Given the description of an element on the screen output the (x, y) to click on. 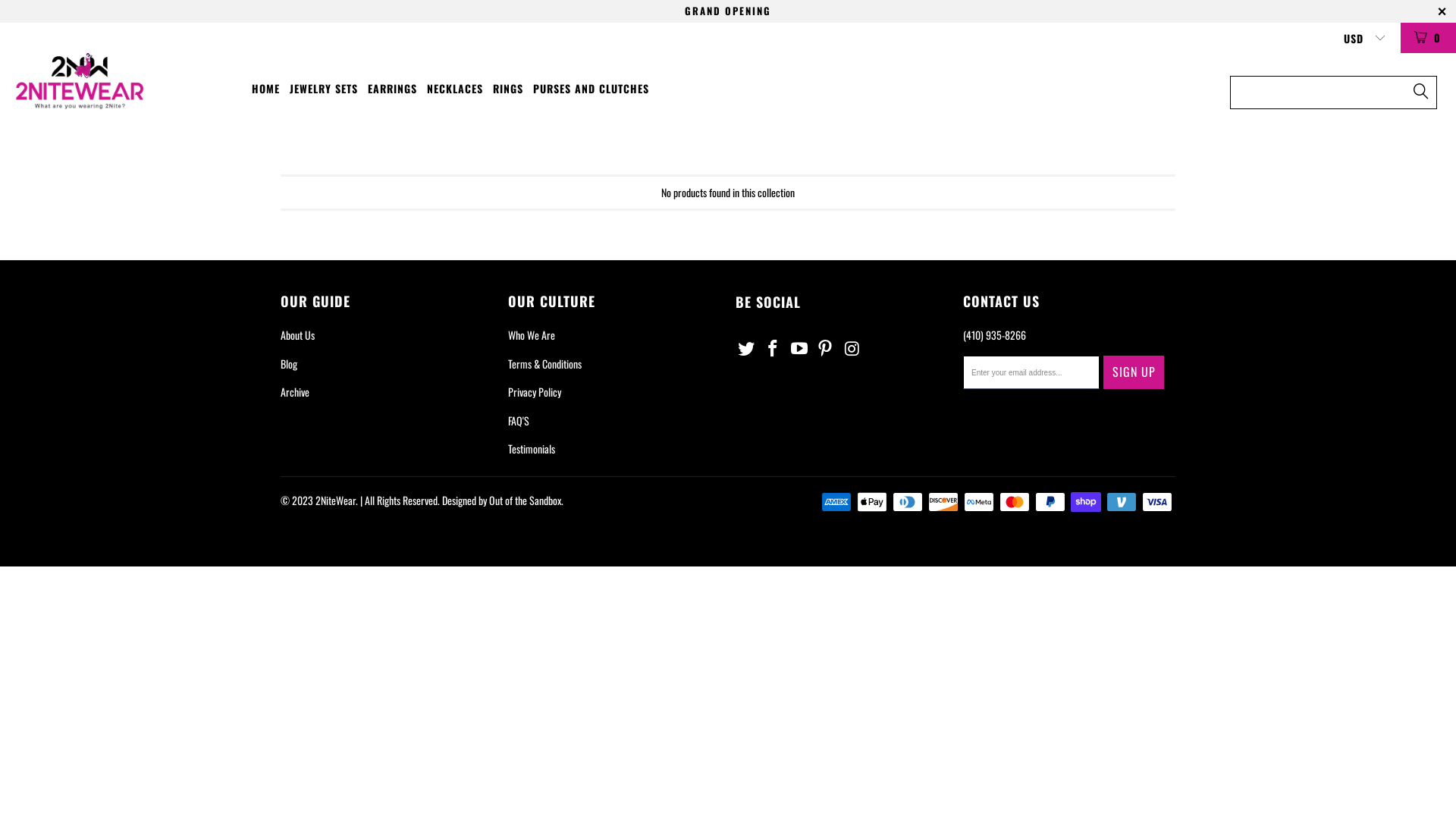
EARRINGS Element type: text (392, 88)
Who We Are Element type: text (531, 334)
2NiteWear on YouTube Element type: hover (798, 347)
Archive Element type: text (294, 391)
PURSES AND CLUTCHES Element type: text (591, 88)
HOME Element type: text (265, 88)
2NiteWear Element type: hover (123, 81)
About Us Element type: text (297, 334)
FAQ'S Element type: text (518, 420)
Blog Element type: text (288, 363)
2NiteWear Element type: text (335, 500)
2NiteWear on Twitter Element type: hover (746, 347)
Privacy Policy Element type: text (534, 391)
RINGS Element type: text (507, 88)
NECKLACES Element type: text (454, 88)
Terms & Conditions Element type: text (544, 363)
2NiteWear on Instagram Element type: hover (851, 347)
2NiteWear on Pinterest Element type: hover (825, 347)
Designed by Out of the Sandbox Element type: text (501, 500)
JEWELRY SETS Element type: text (323, 88)
2NiteWear on Facebook Element type: hover (773, 347)
Testimonials Element type: text (531, 448)
Sign Up Element type: text (1133, 372)
